Given the description of an element on the screen output the (x, y) to click on. 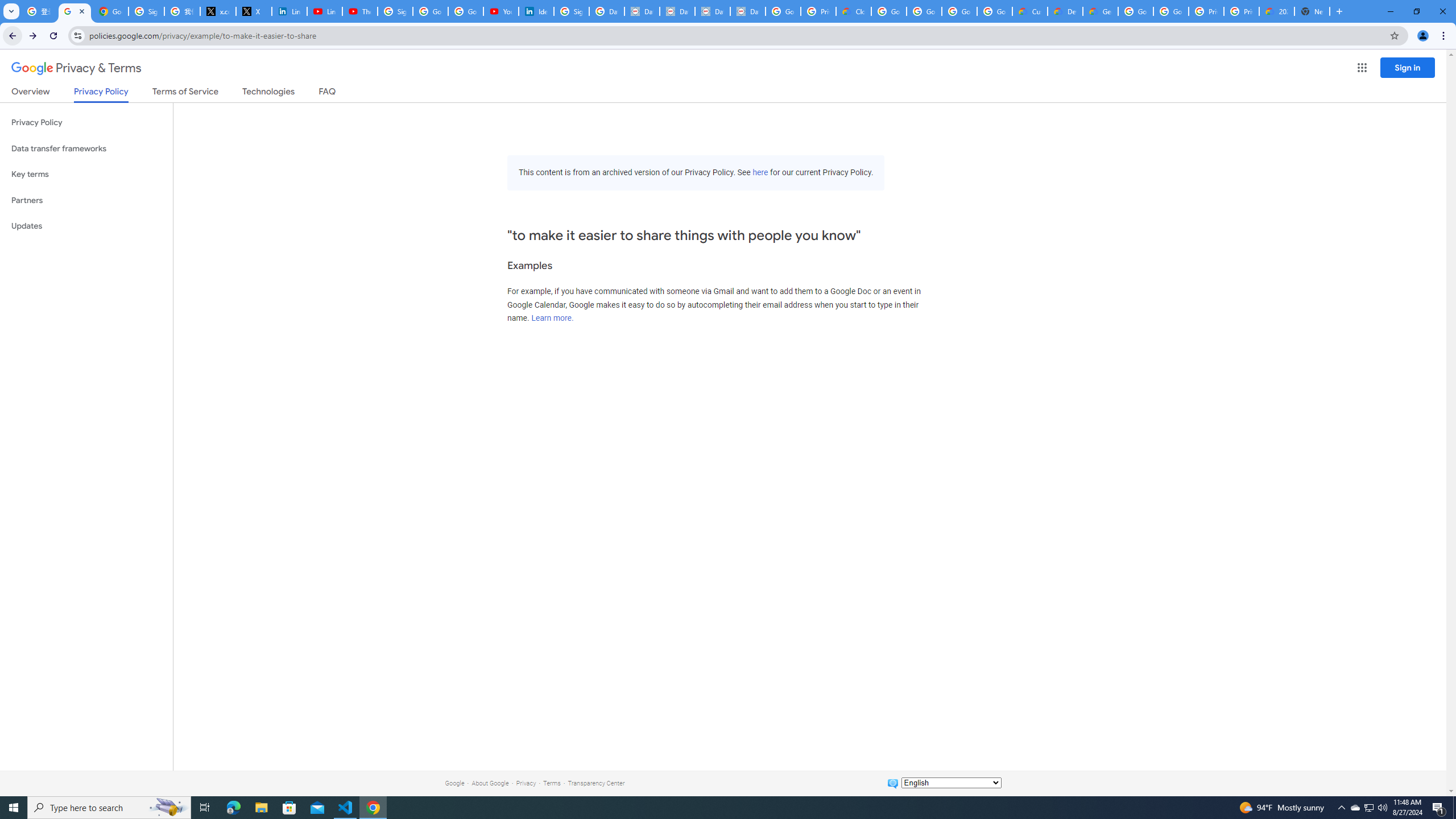
LinkedIn - YouTube (324, 11)
LinkedIn Privacy Policy (288, 11)
Data Privacy Framework (641, 11)
Sign in - Google Accounts (145, 11)
